Given the description of an element on the screen output the (x, y) to click on. 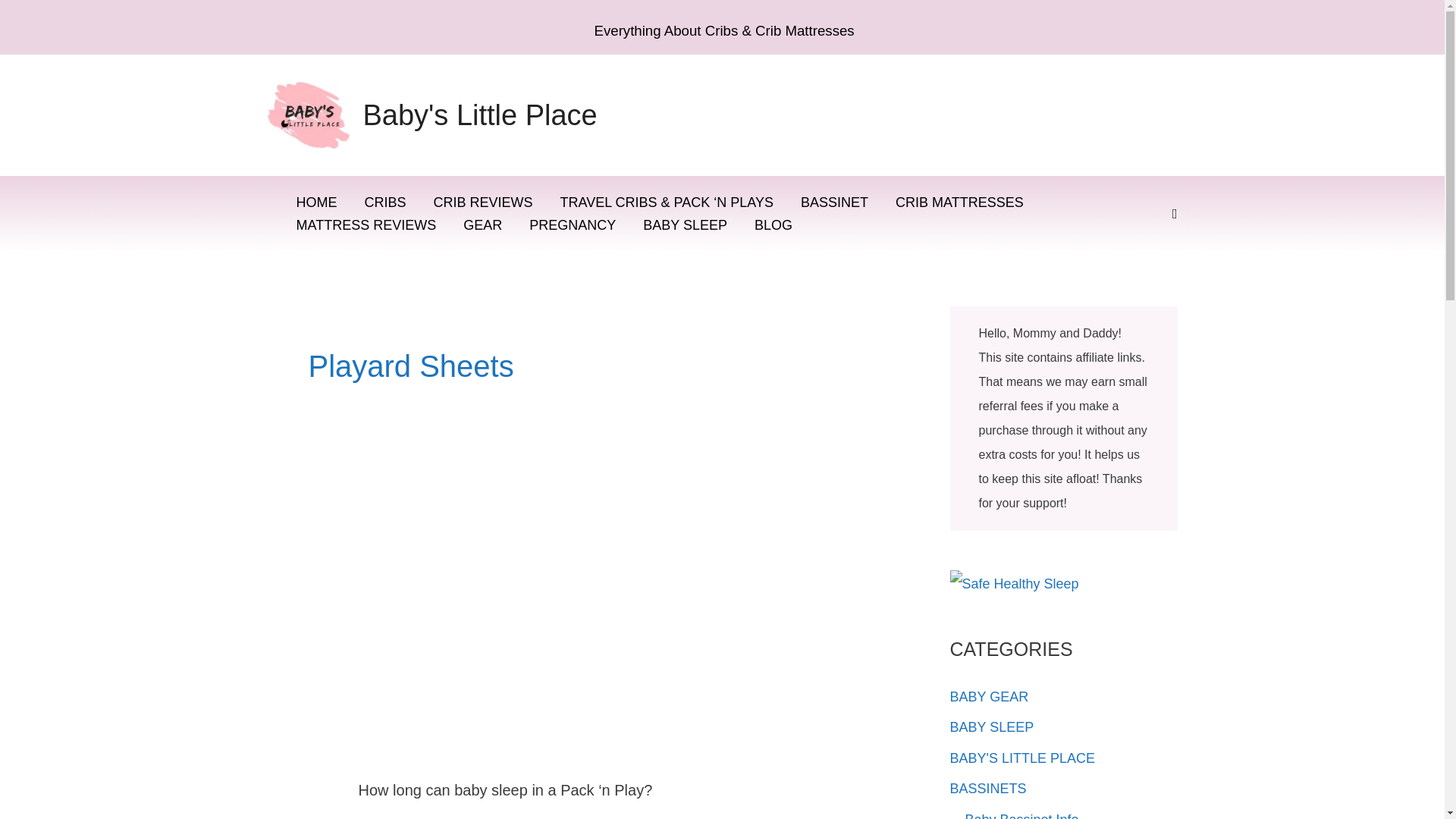
CRIBS (384, 201)
HOME (316, 201)
Baby's Little Place (479, 115)
